Given the description of an element on the screen output the (x, y) to click on. 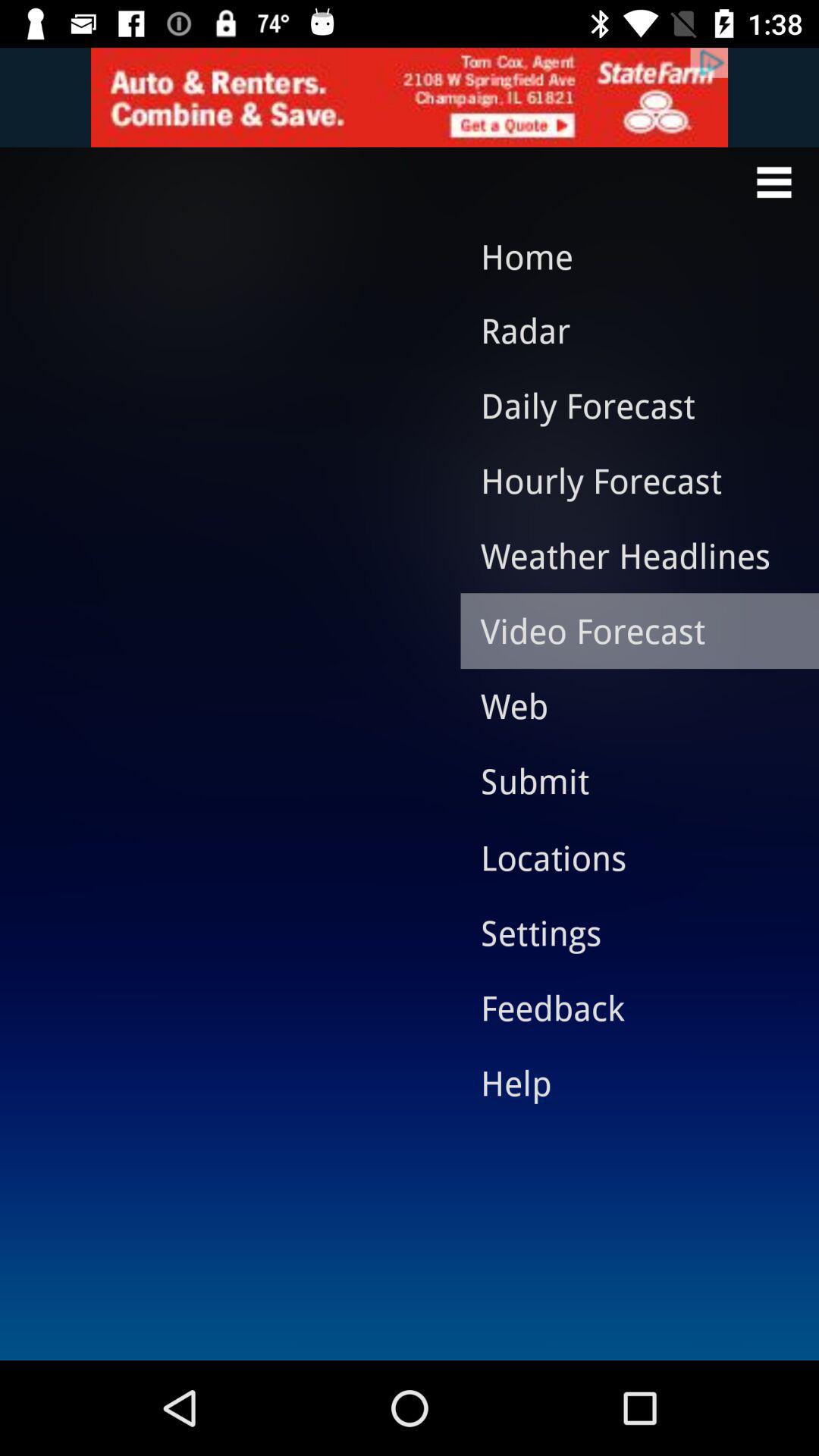
advertisement (409, 97)
